Given the description of an element on the screen output the (x, y) to click on. 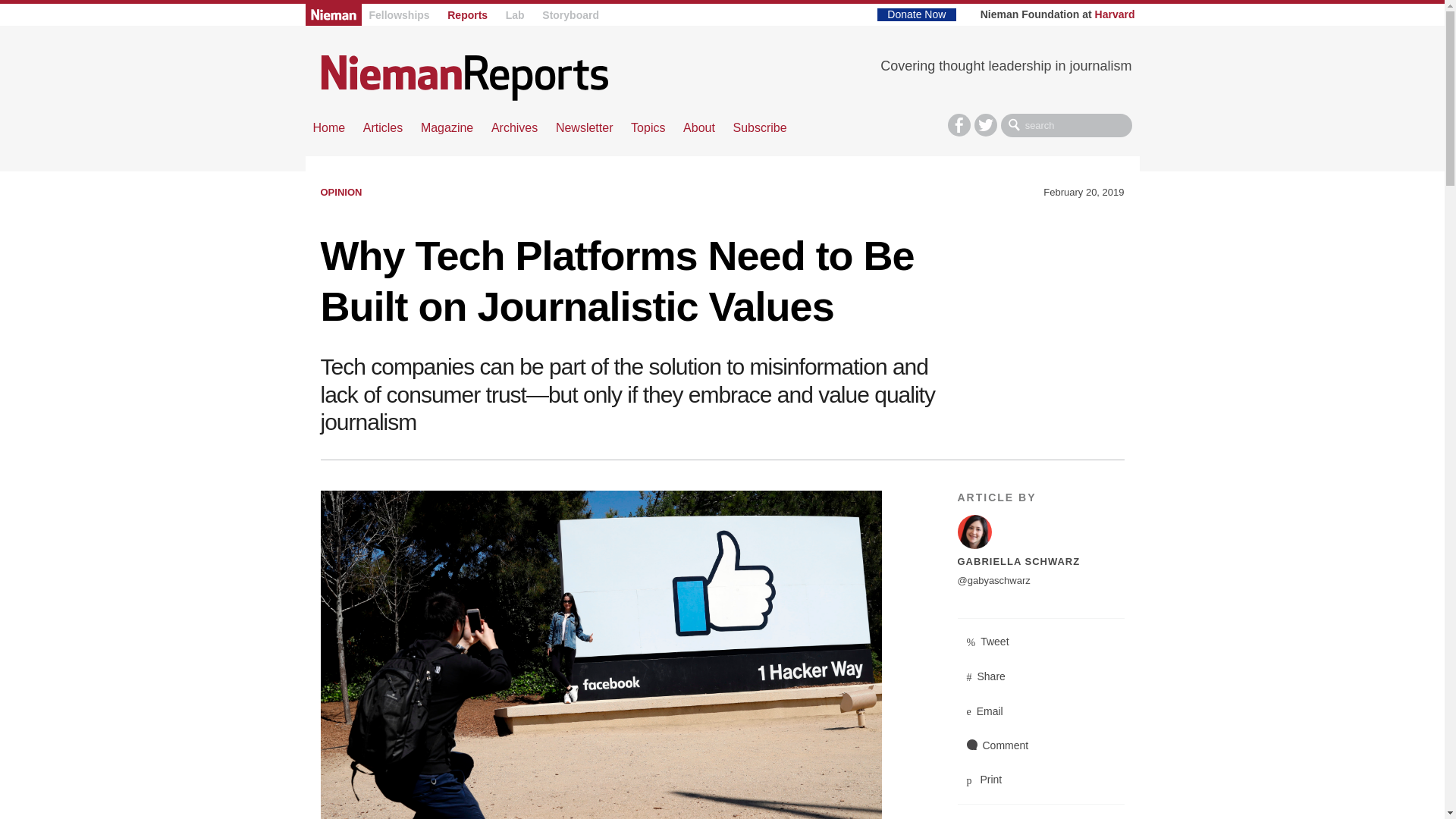
Topics (647, 127)
Storyboard (569, 15)
T (985, 124)
Print (1040, 779)
Subscribe (759, 127)
Gabriella Schwarz (1040, 531)
F (959, 124)
About (698, 127)
Lab (514, 15)
Tweet (1040, 642)
Donate Now (915, 14)
GABRIELLA SCHWARZ (1018, 561)
Nieman Foundation Home (332, 14)
Newsletter (584, 127)
Home (329, 127)
